Given the description of an element on the screen output the (x, y) to click on. 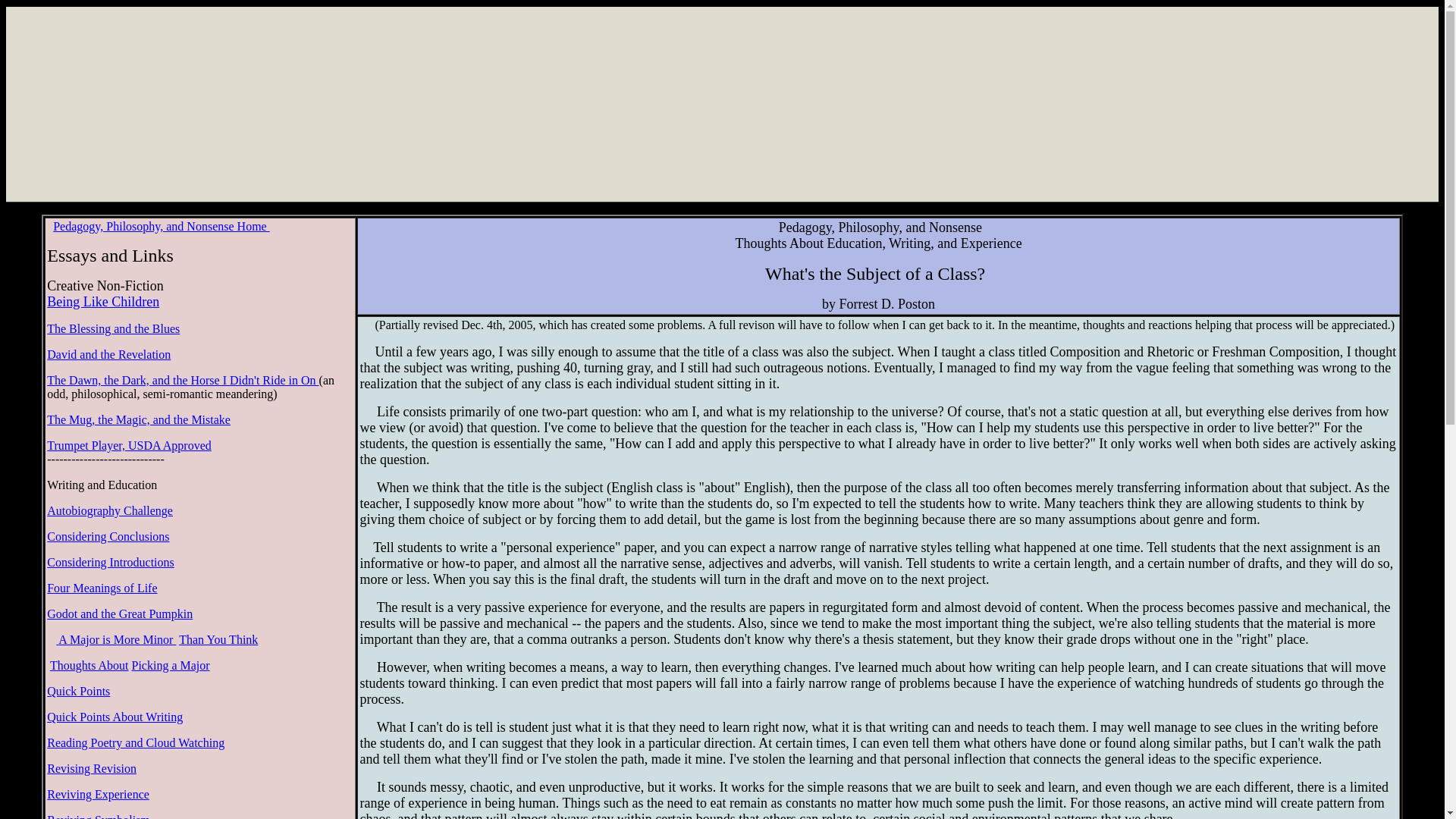
Quick Points About Writing (114, 716)
David and the Revelation (108, 354)
Revising Revision (91, 768)
Reviving Experience (97, 793)
Being Like Children (104, 309)
The Dawn, the Dark, and the Horse I Didn't Ride in On (182, 379)
Reading Poetry and Cloud Watching (135, 742)
Quick Points (78, 690)
Pedagogy, Philosophy, and Nonsense Home  (160, 226)
The Mug, the Magic, and the Mistake (138, 419)
Godot and the Great Pumpkin (119, 613)
Thoughts About (89, 665)
Reviving Symbolism (97, 816)
Picking a Major (170, 665)
Than You Think (218, 639)
